Given the description of an element on the screen output the (x, y) to click on. 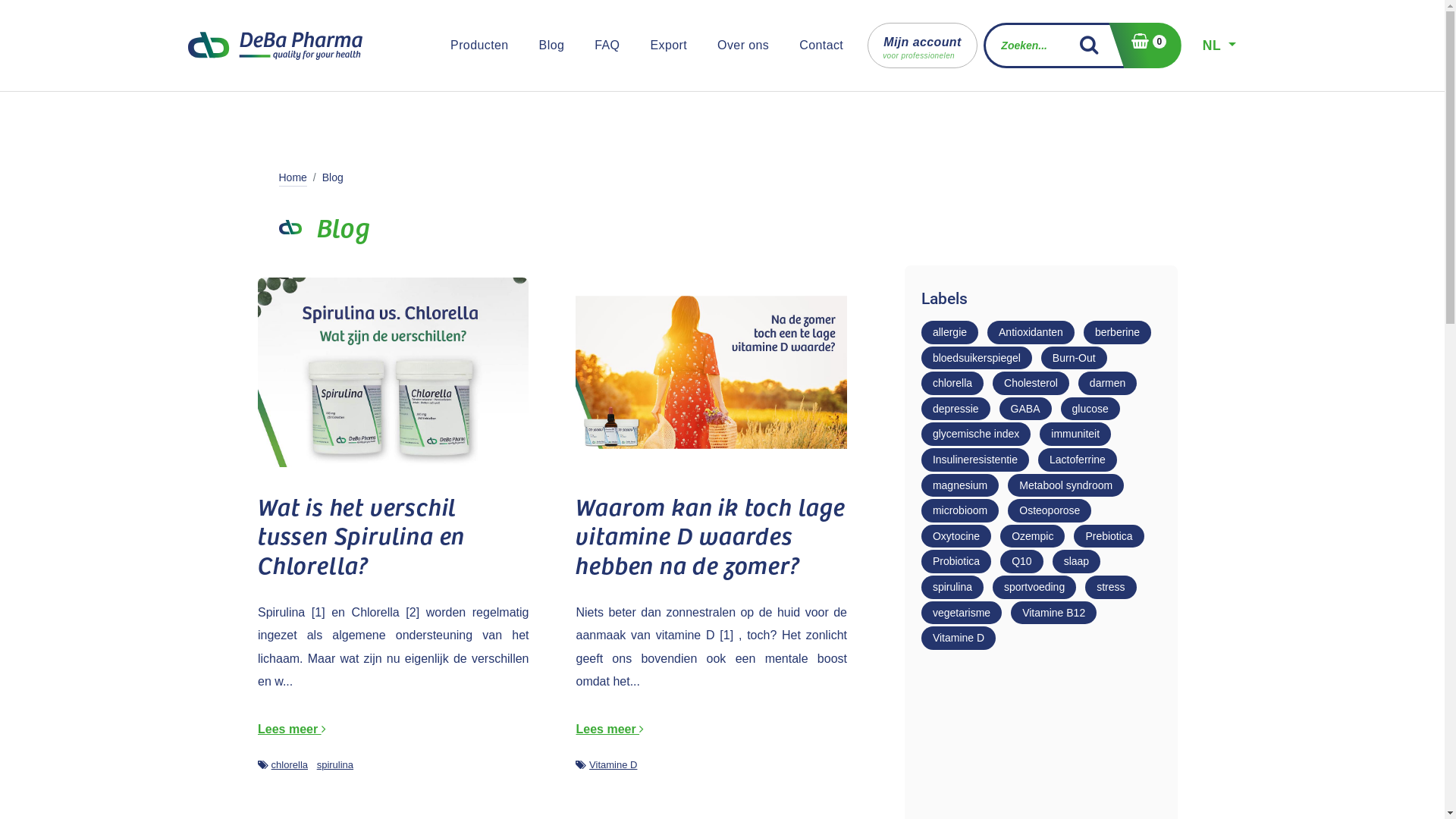
bloedsuikerspiegel Element type: text (976, 358)
Oxytocine Element type: text (956, 536)
Blog Element type: text (552, 45)
Antioxidanten Element type: text (1030, 332)
Mijn account
voor professionelen Element type: text (922, 45)
Vitamine D Element type: text (958, 637)
Vitamine D Element type: text (613, 764)
Labels Element type: hover (262, 764)
Probiotica Element type: text (956, 561)
spirulina Element type: text (952, 587)
spirulina Element type: text (334, 764)
Cholesterol Element type: text (1030, 383)
Ozempic Element type: text (1032, 536)
Producten Element type: text (479, 45)
Vitamine B12 Element type: text (1053, 612)
immuniteit Element type: text (1074, 433)
Over ons Element type: text (743, 45)
Zoek Element type: hover (1094, 45)
NL Element type: text (1218, 45)
glucose Element type: text (1089, 408)
Burn-Out Element type: text (1074, 358)
chlorella Element type: text (952, 383)
Labels Element type: hover (580, 764)
slaap Element type: text (1076, 561)
allergie Element type: text (949, 332)
Lees meer Element type: text (609, 729)
GABA Element type: text (1025, 408)
Q10 Element type: text (1021, 561)
FAQ Element type: text (606, 45)
Lactoferrine Element type: text (1077, 459)
Home Element type: text (293, 177)
stress Element type: text (1110, 587)
microbioom Element type: text (959, 510)
depressie Element type: text (955, 408)
glycemische index Element type: text (975, 433)
Wat is het verschil tussen Spirulina en Chlorella? Element type: text (393, 534)
berberine Element type: text (1117, 332)
Contact Element type: text (821, 45)
darmen Element type: text (1107, 383)
Osteoporose Element type: text (1049, 510)
Export Element type: text (668, 45)
Insulineresistentie Element type: text (975, 459)
Lees meer Element type: text (291, 729)
Prebiotica Element type: text (1108, 536)
Metabool syndroom Element type: text (1065, 485)
chlorella Element type: text (289, 764)
magnesium Element type: text (959, 485)
0 Element type: text (1144, 45)
vegetarisme Element type: text (961, 612)
sportvoeding Element type: text (1034, 587)
